Given the description of an element on the screen output the (x, y) to click on. 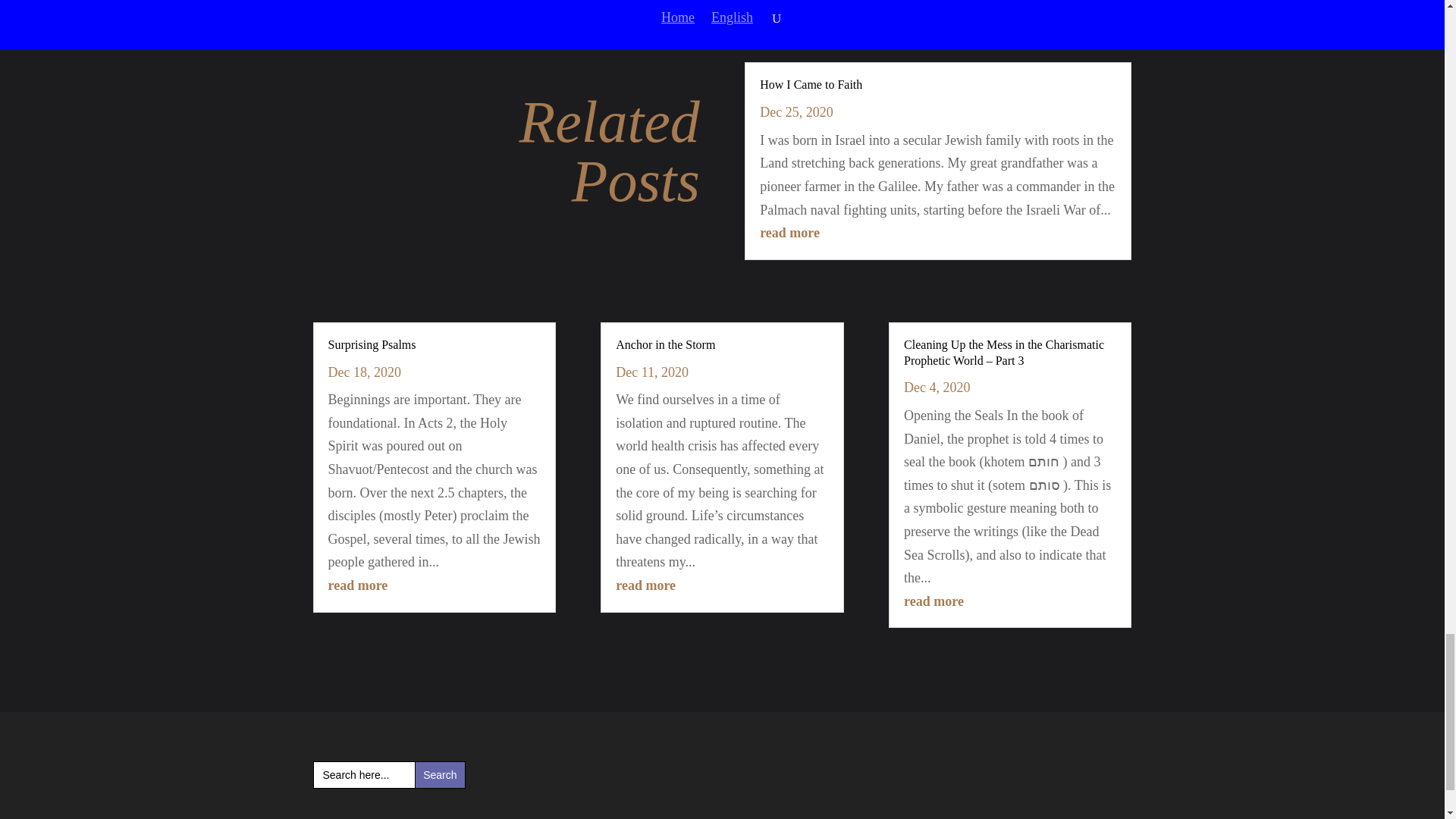
read more (933, 601)
How I Came to Faith (810, 83)
Search (439, 774)
Search (439, 774)
Anchor in the Storm (664, 344)
Surprising Psalms (370, 344)
read more (357, 585)
read more (645, 585)
Search (439, 774)
read more (789, 232)
